Given the description of an element on the screen output the (x, y) to click on. 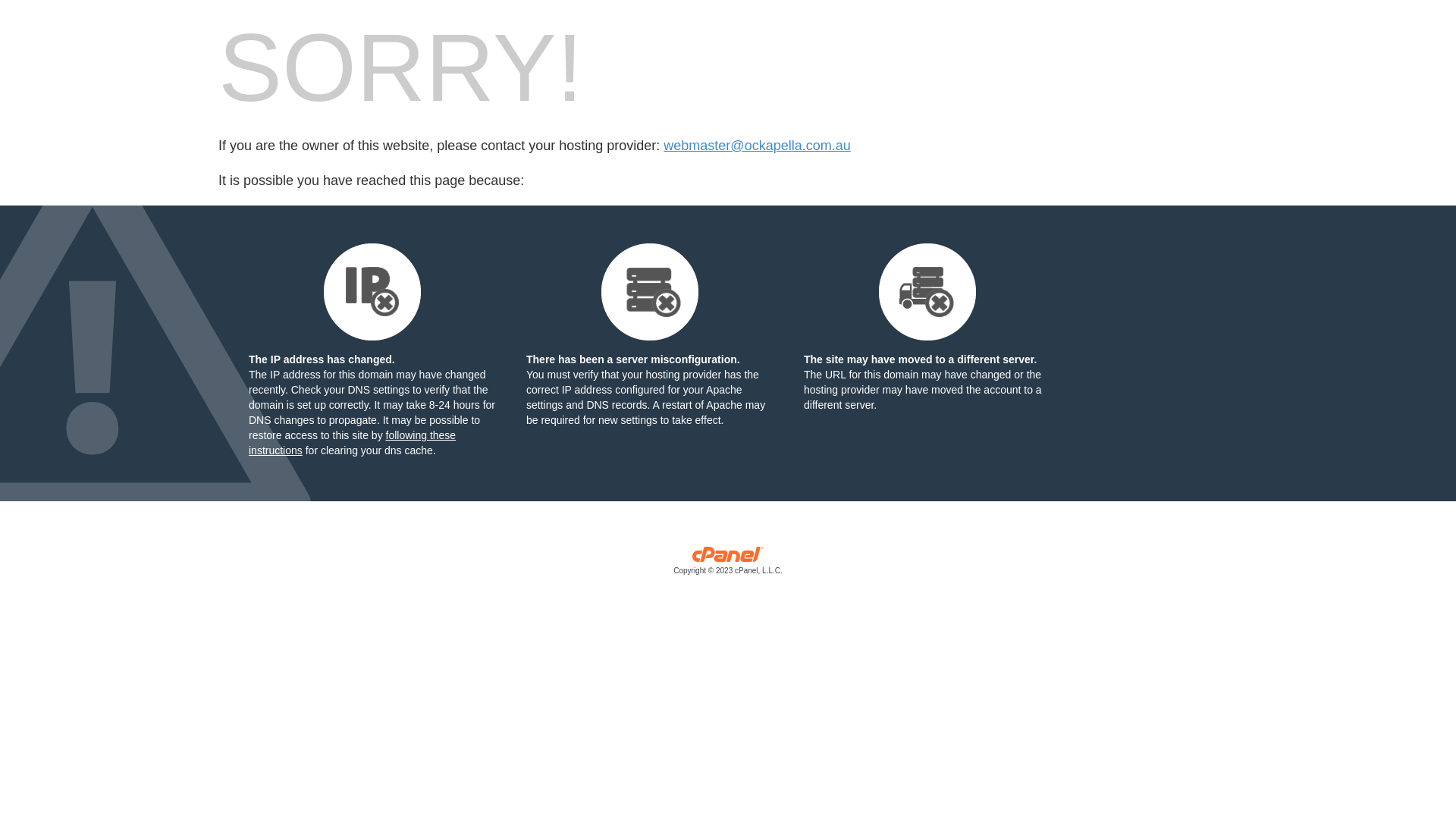
following these instructions Element type: text (351, 442)
webmaster@ockapella.com.au Element type: text (756, 145)
